Given the description of an element on the screen output the (x, y) to click on. 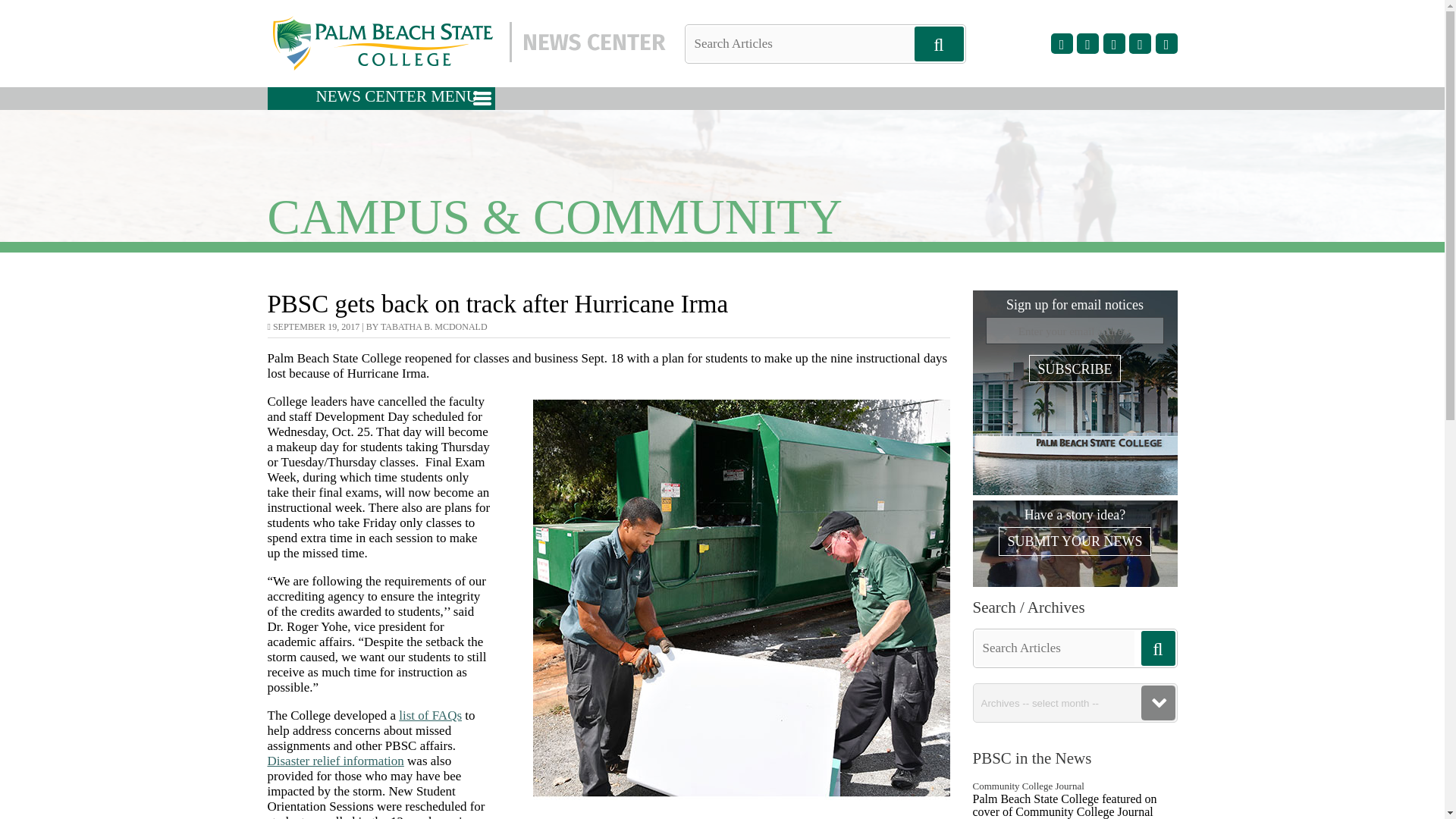
list of FAQs (429, 715)
Subscribe (1074, 368)
Subscribe (1074, 368)
Disaster relief information (334, 760)
TABATHA B. MCDONALD (433, 326)
SUBMIT YOUR NEWS (1074, 541)
Search (38, 11)
Posts by Tabatha B. McDonald (433, 326)
